Given the description of an element on the screen output the (x, y) to click on. 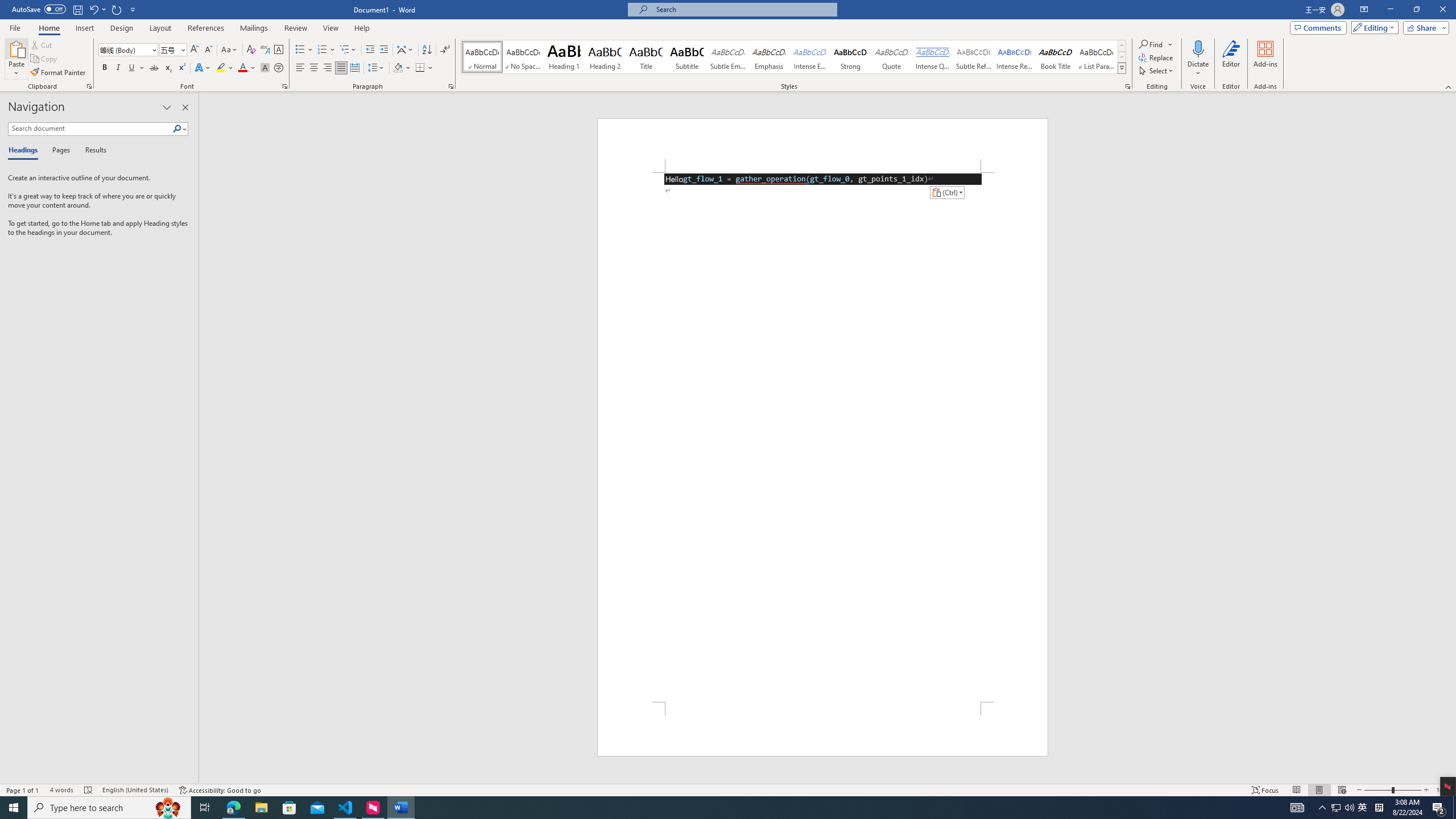
Zoom 100% (1443, 790)
Intense Emphasis (809, 56)
